Given the description of an element on the screen output the (x, y) to click on. 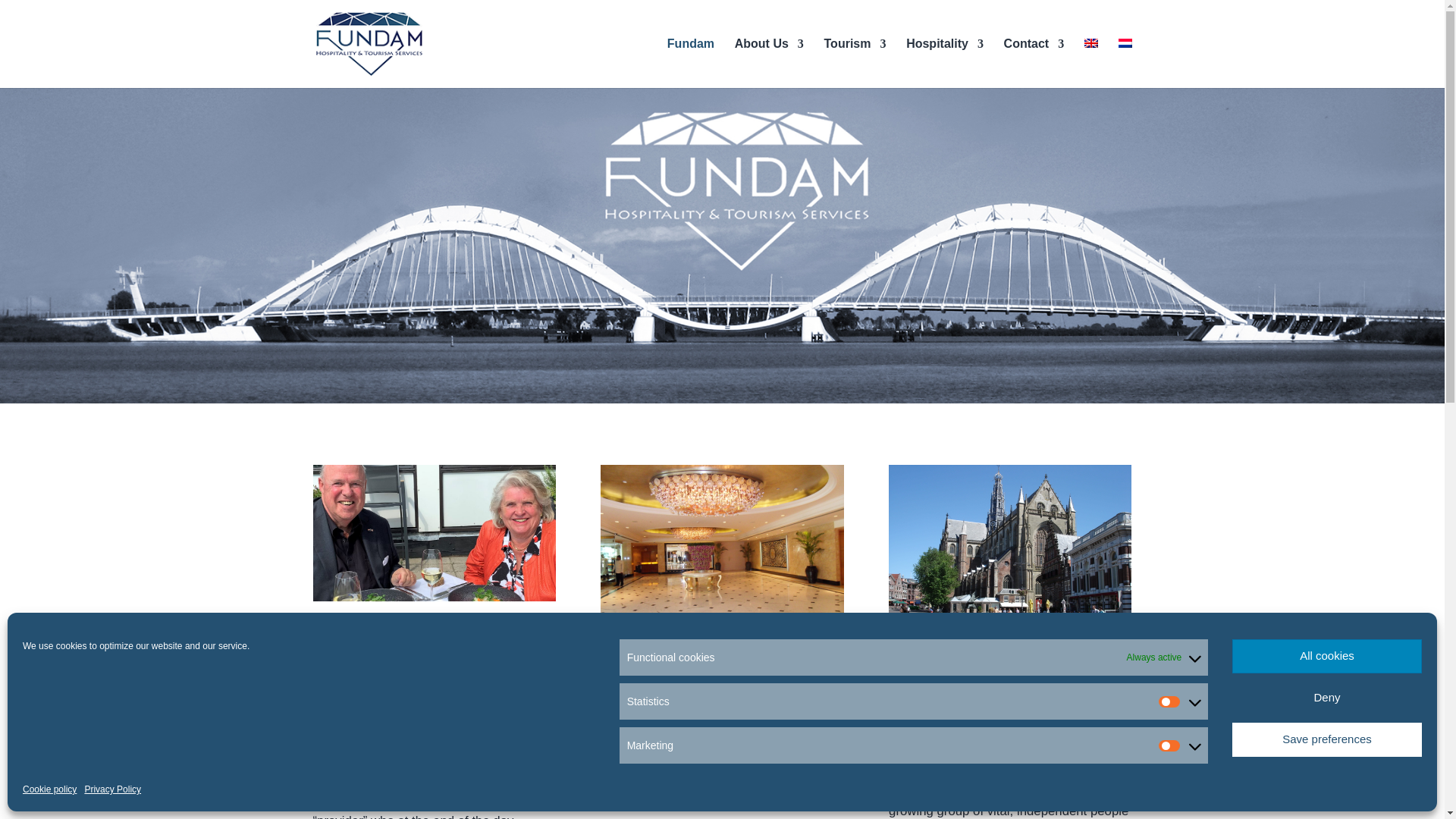
Deny (1326, 697)
Save preferences (1326, 739)
Cookie policy (50, 789)
Privacy Policy (112, 789)
Fundam (690, 62)
Hospitality (944, 62)
Tourism (855, 62)
Contact (1034, 62)
About Us (769, 62)
All cookies (1326, 656)
